Given the description of an element on the screen output the (x, y) to click on. 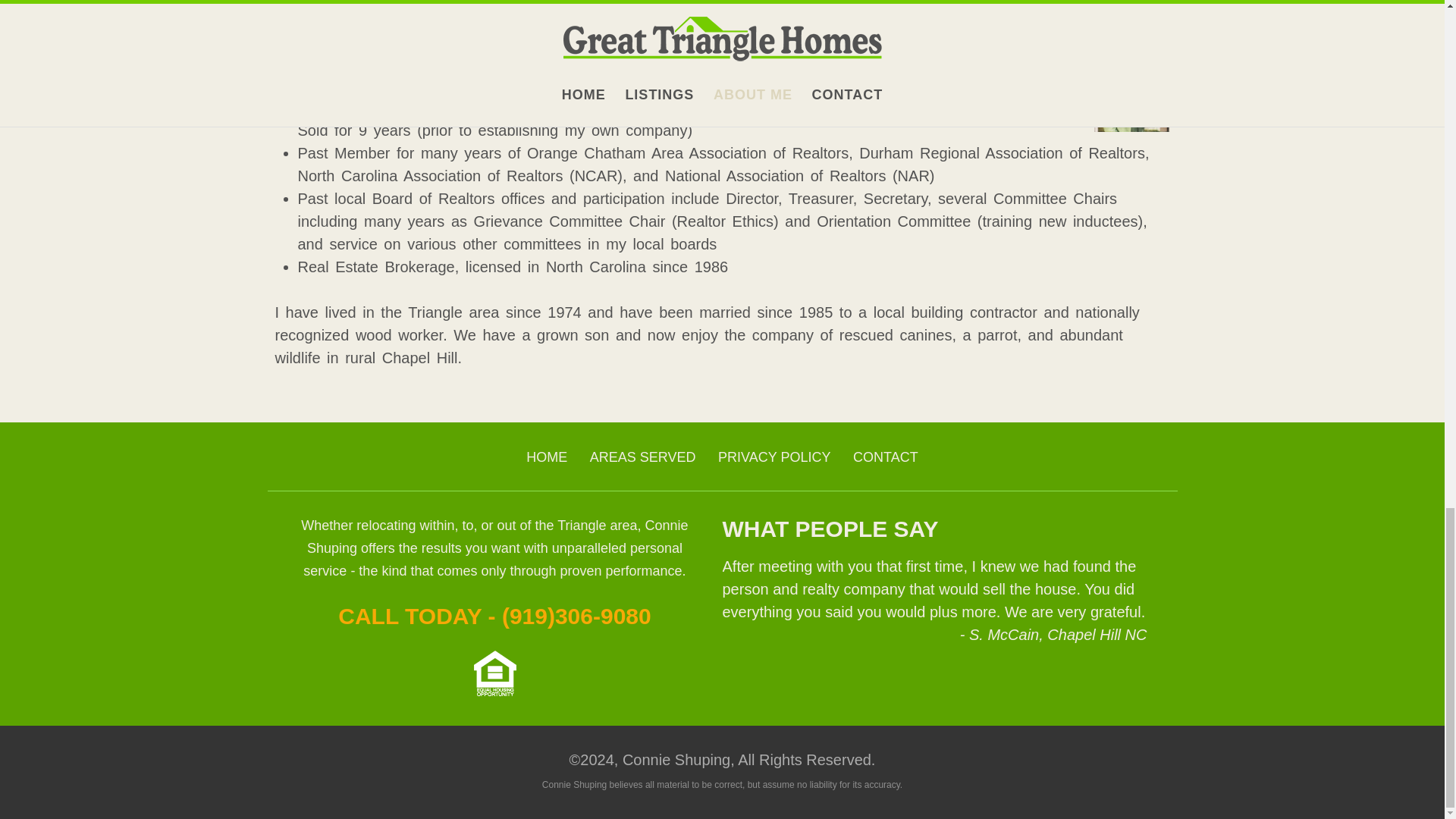
PRIVACY POLICY (774, 456)
HOME (546, 456)
AREAS SERVED (642, 456)
CONTACT (885, 456)
